Given the description of an element on the screen output the (x, y) to click on. 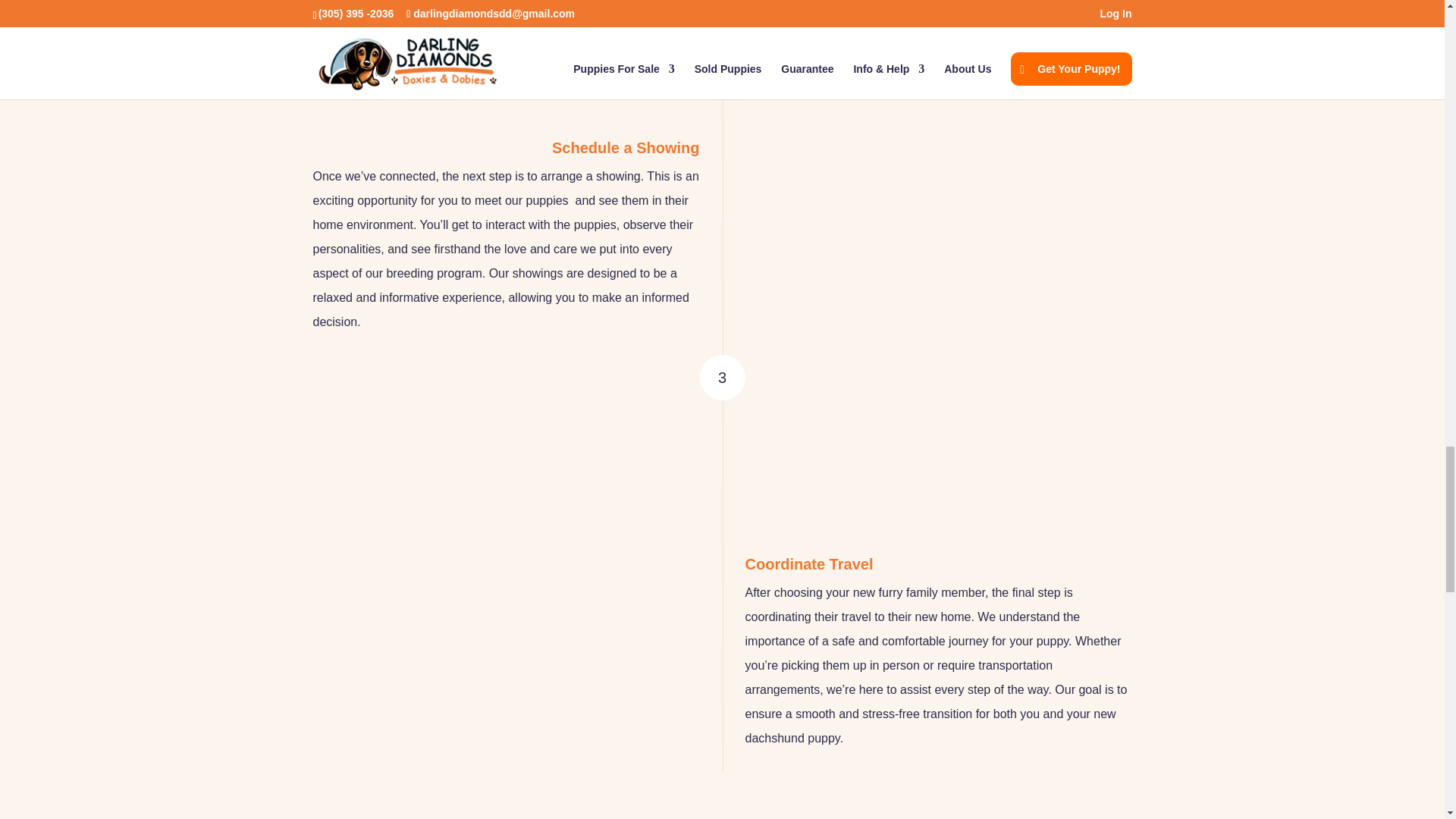
dog-breeder-icon-05 (805, 476)
dog-breeder-icon-03 (638, 60)
